Given the description of an element on the screen output the (x, y) to click on. 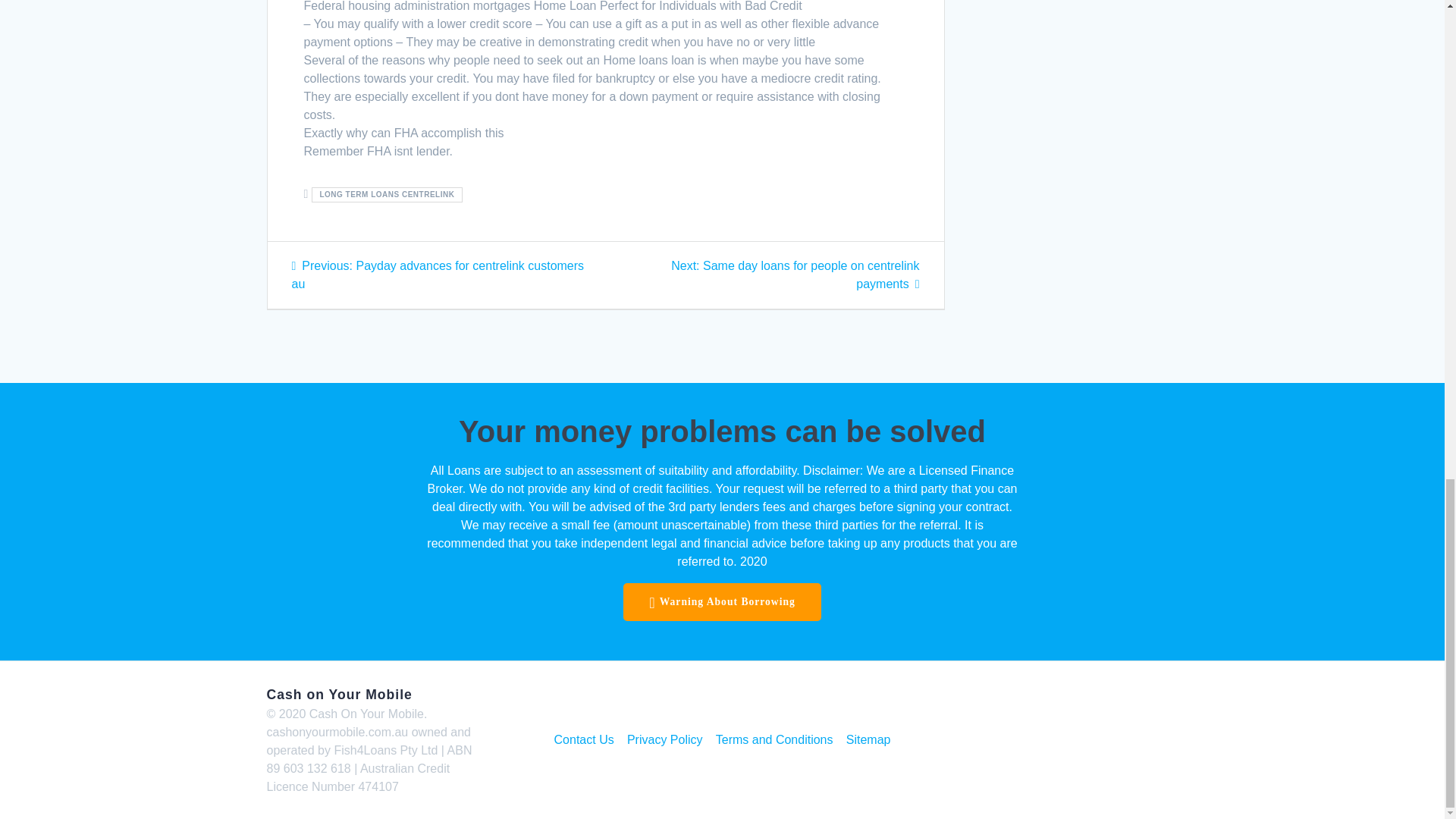
Privacy Policy (665, 740)
LONG TERM LOANS CENTRELINK (387, 194)
Warning About Borrowing (722, 601)
Contact Us (584, 740)
Sitemap (868, 740)
Terms and Conditions (774, 740)
